Given the description of an element on the screen output the (x, y) to click on. 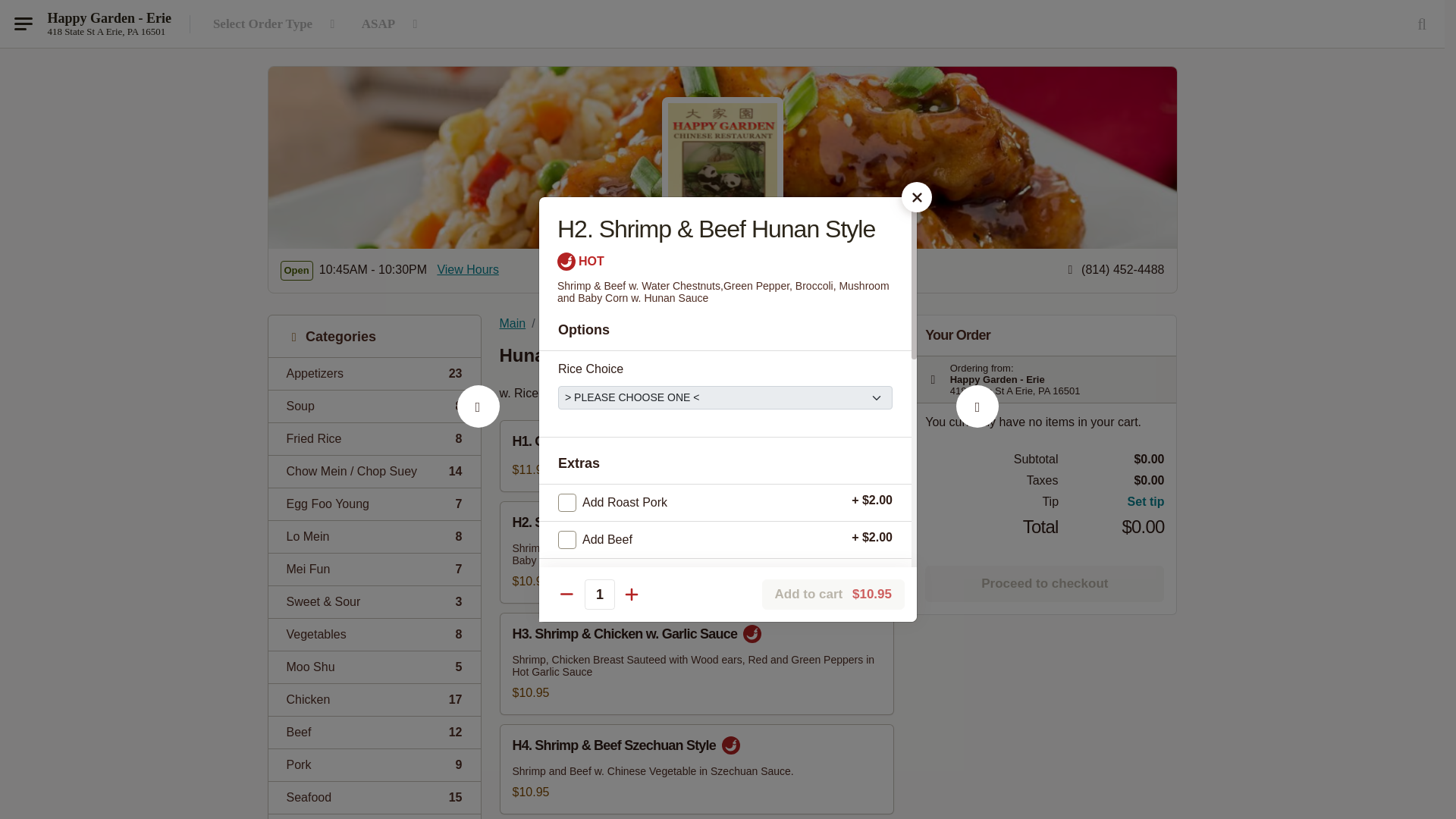
View Hours (373, 503)
H1. General Tso's Chicken (467, 270)
418 State St A Erie, PA 16501 (478, 422)
1 (373, 568)
Choose a Rice Choice (105, 31)
Select Order Type (373, 438)
ASAP (373, 536)
Proceed to checkout (599, 594)
